Given the description of an element on the screen output the (x, y) to click on. 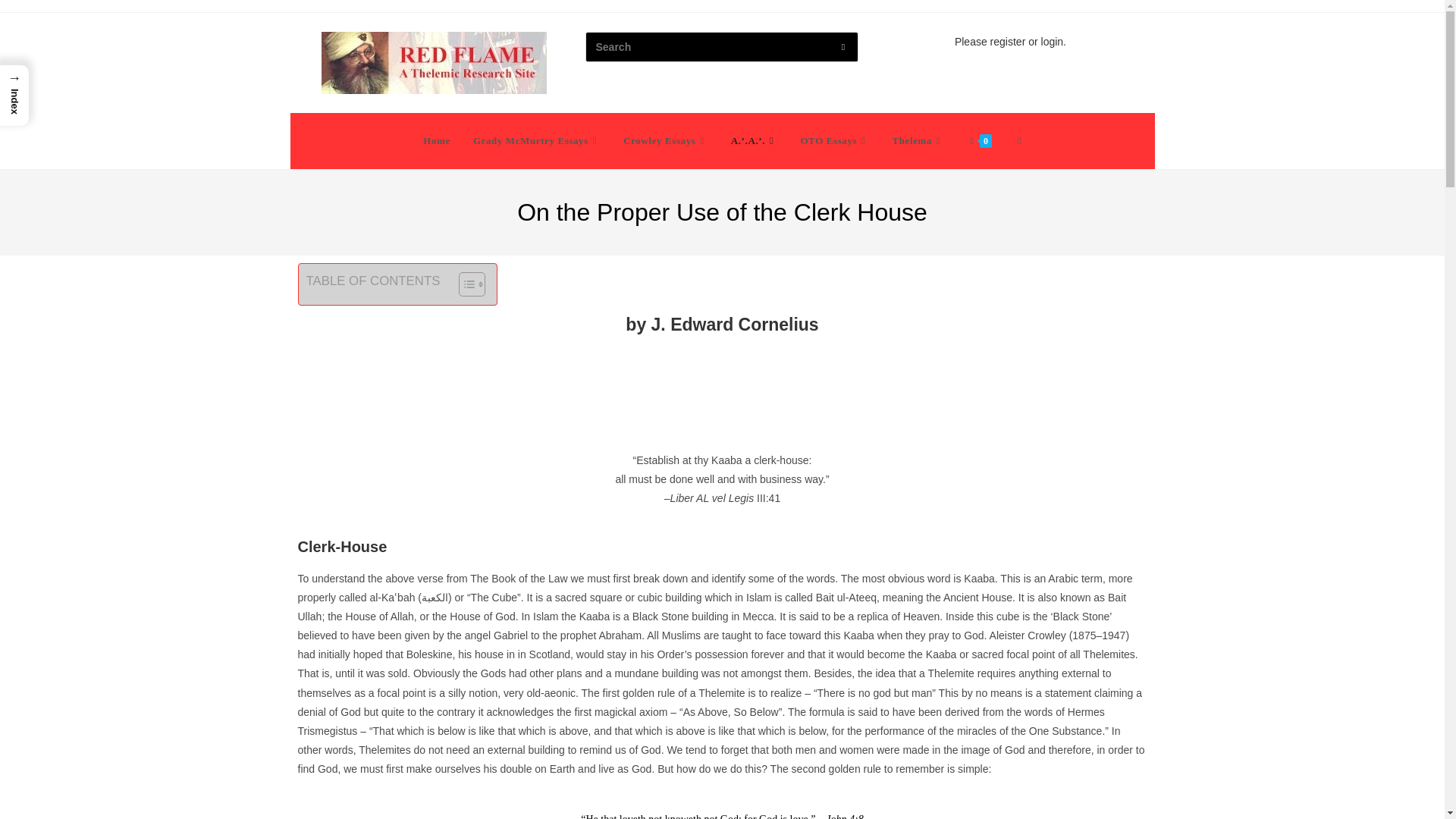
Please register or login. (1010, 41)
Home (436, 140)
Grady McMurtry Essays (536, 140)
